Given the description of an element on the screen output the (x, y) to click on. 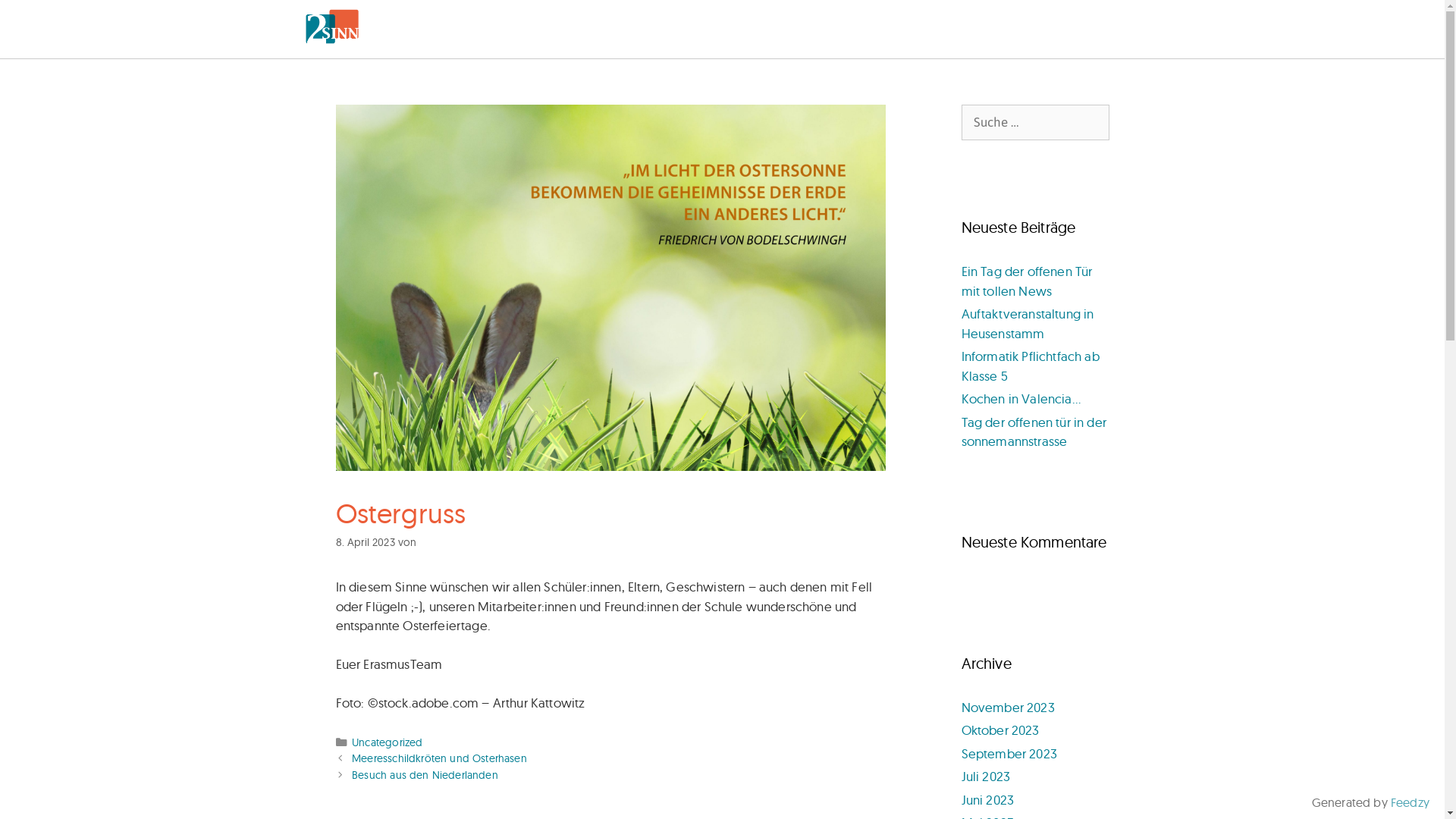
2SINN Konzepte Element type: hover (330, 29)
November 2023 Element type: text (1007, 707)
Suchen Element type: text (36, 18)
Informatik Pflichtfach ab Klasse 5 Element type: text (1030, 365)
Besuch aus den Niederlanden Element type: text (424, 774)
September 2023 Element type: text (1009, 752)
2SINN Konzepte Element type: hover (330, 26)
Suche nach: Element type: hover (1035, 122)
Feedzy Element type: text (1409, 801)
Juni 2023 Element type: text (987, 799)
Auftaktveranstaltung in Heusenstamm Element type: text (1027, 323)
Uncategorized Element type: text (386, 742)
Juli 2023 Element type: text (985, 776)
Oktober 2023 Element type: text (1000, 729)
